Given the description of an element on the screen output the (x, y) to click on. 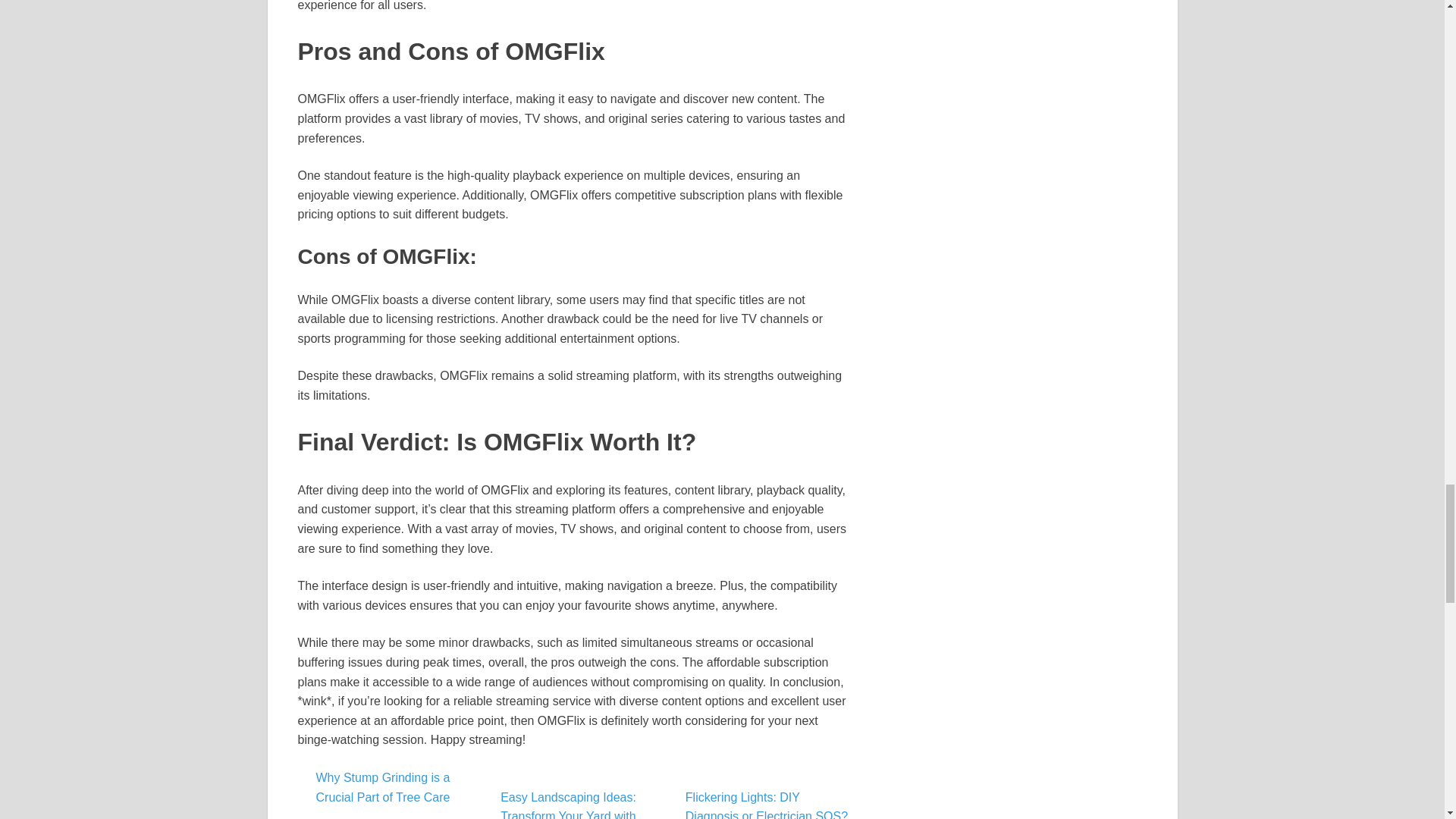
Flickering Lights: DIY Diagnosis or Electrician SOS?   (769, 805)
Why Stump Grinding is a Crucial Part of Tree Care (382, 787)
